Given the description of an element on the screen output the (x, y) to click on. 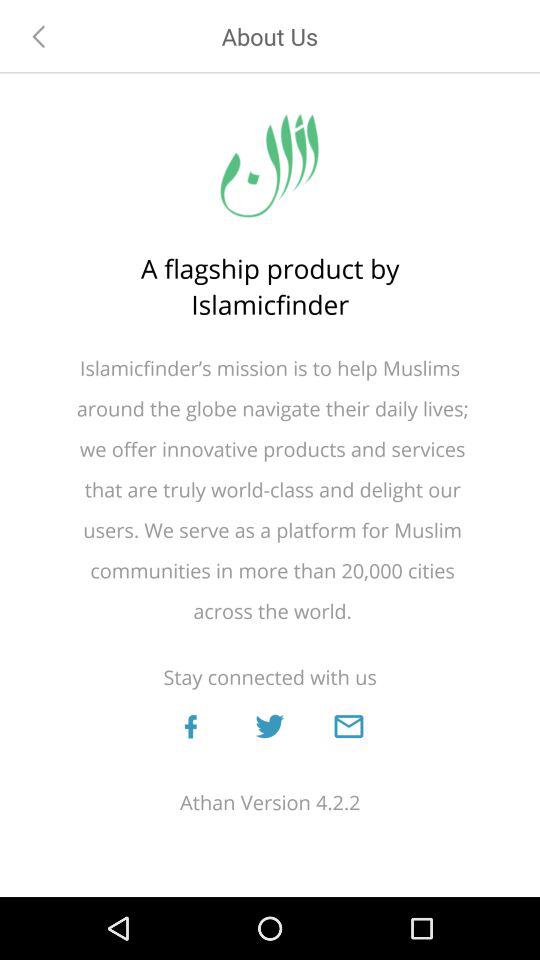
send email (348, 726)
